Given the description of an element on the screen output the (x, y) to click on. 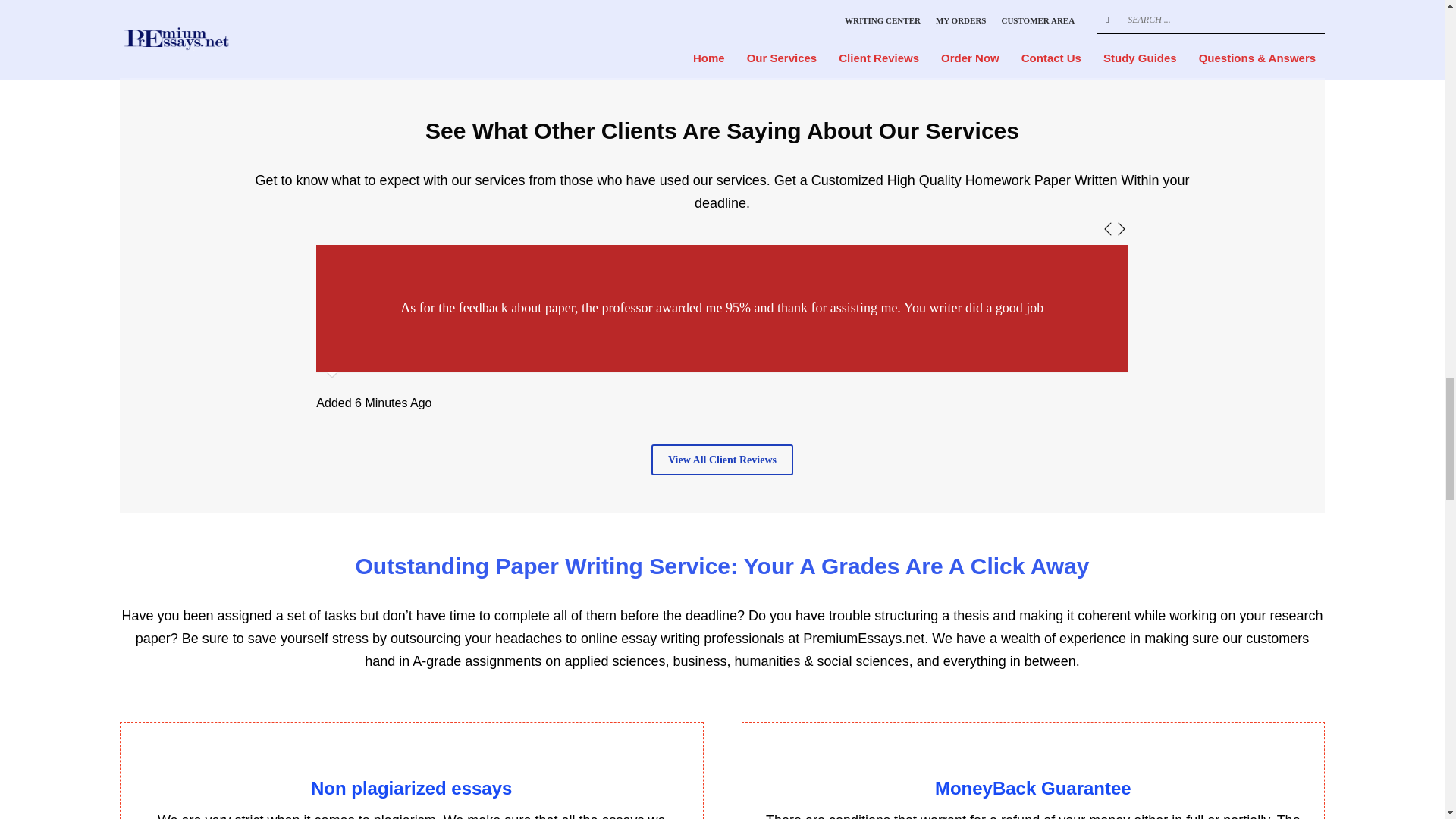
View All Client Reviews (721, 459)
